Given the description of an element on the screen output the (x, y) to click on. 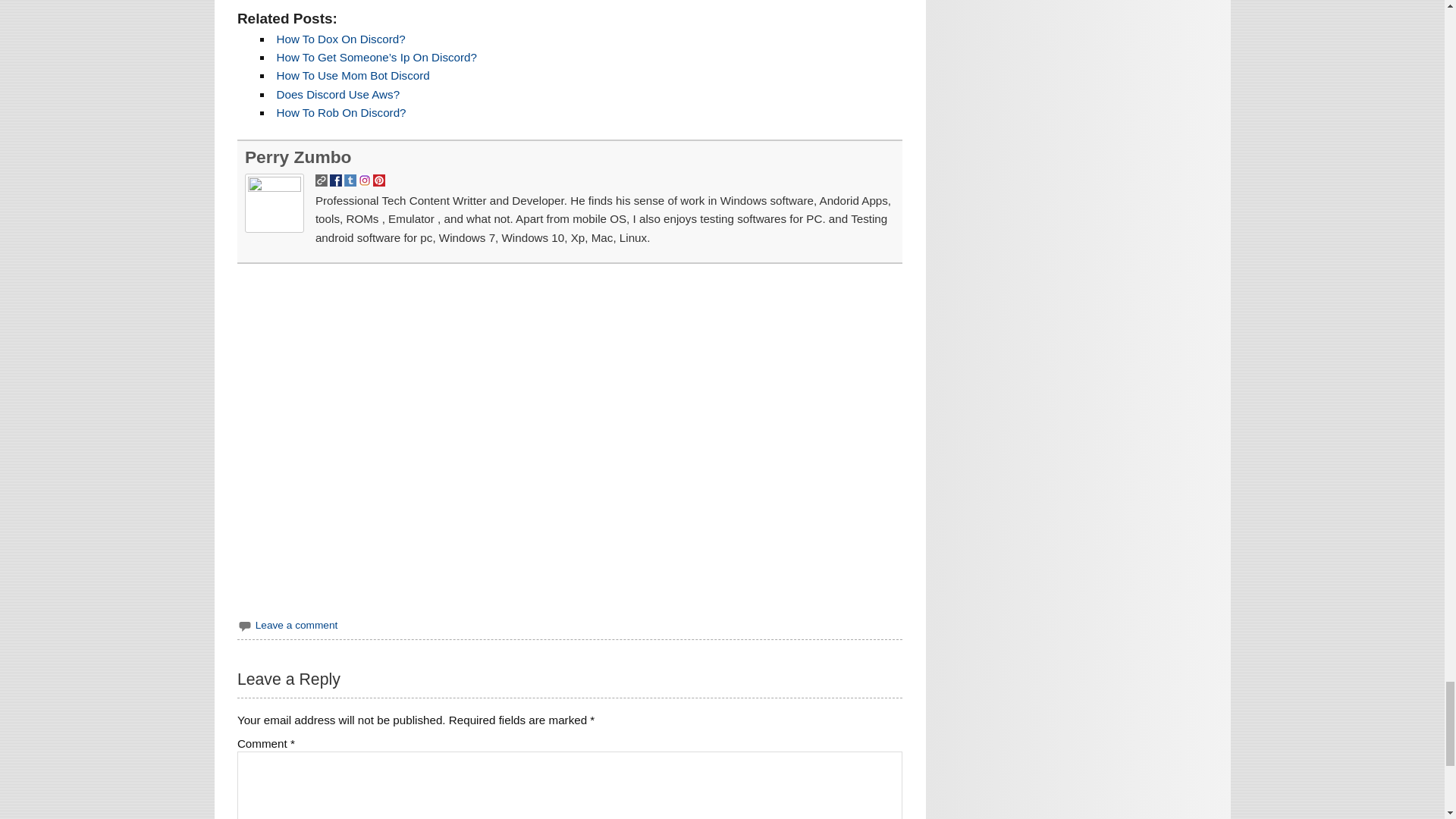
All posts by Perry Zumbo (298, 157)
How To Use Mom Bot Discord (352, 74)
Does Discord Use Aws? (337, 93)
How To Rob On Discord? (341, 112)
Perry Zumbo (298, 157)
How To Dox On Discord? (340, 38)
